Given the description of an element on the screen output the (x, y) to click on. 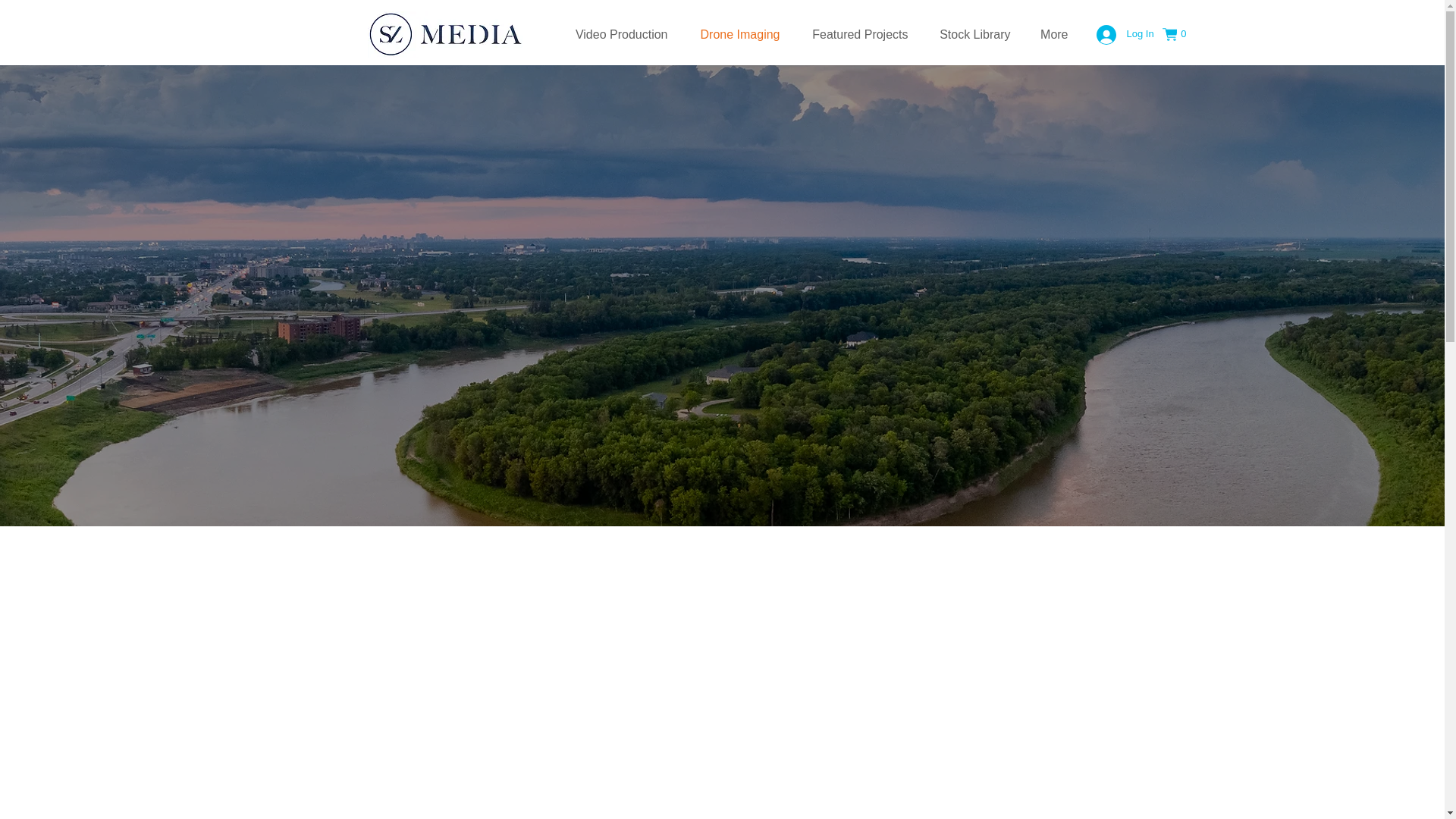
Log In (1118, 33)
Stock Library (971, 33)
Drone Imaging (737, 33)
Video Production (617, 33)
